Given the description of an element on the screen output the (x, y) to click on. 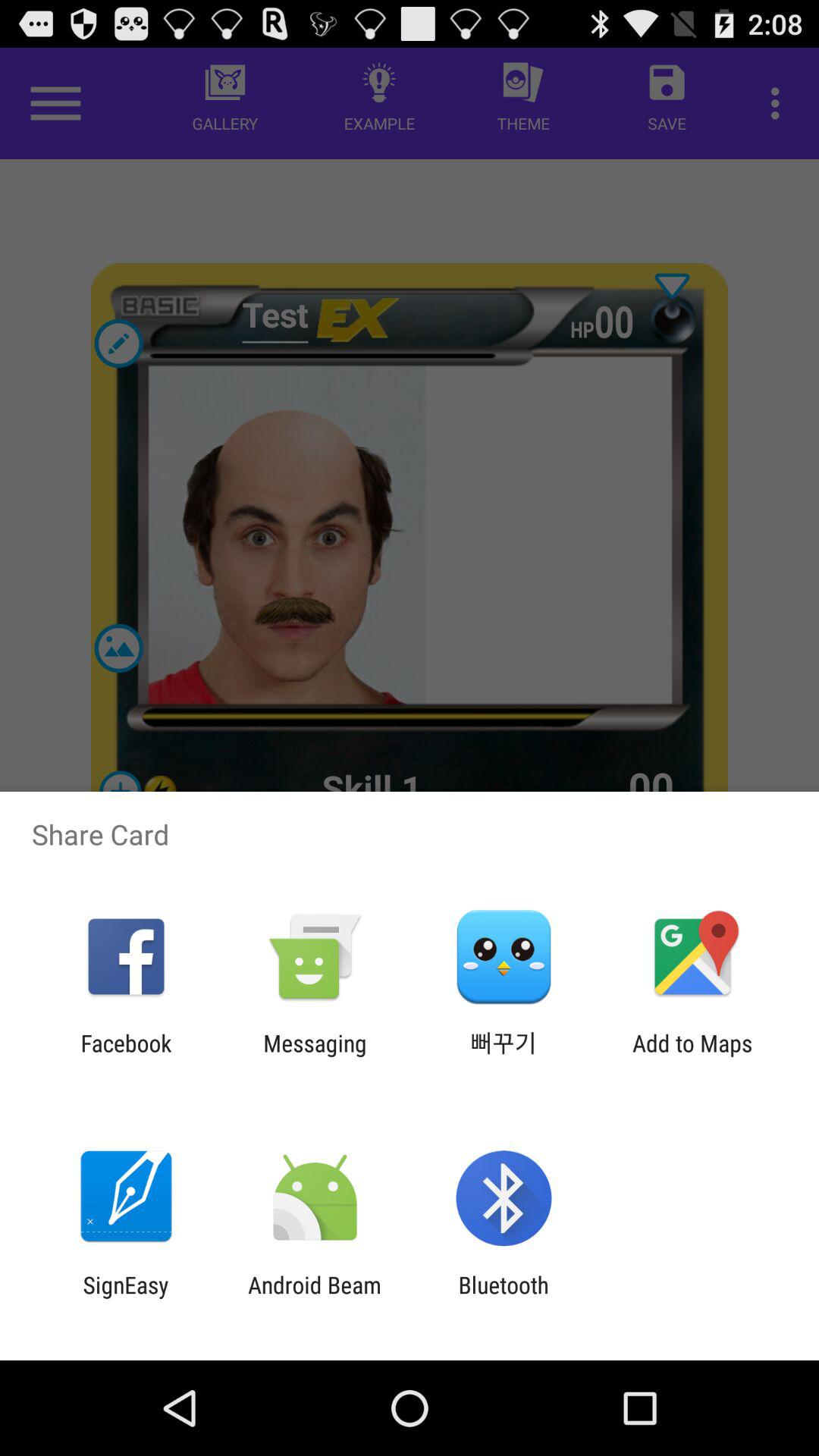
open the icon to the left of the messaging icon (125, 1056)
